Given the description of an element on the screen output the (x, y) to click on. 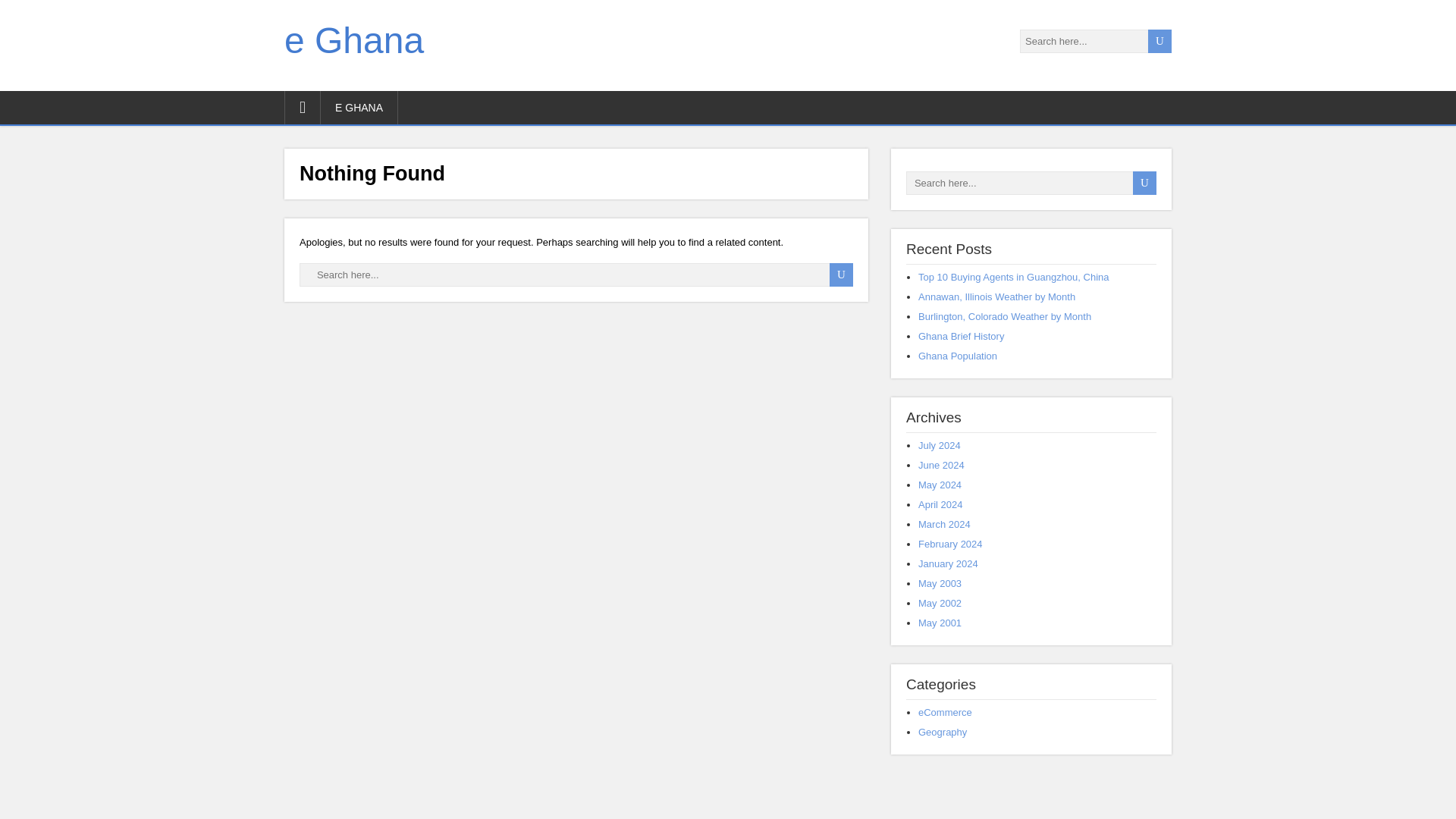
Geography (942, 731)
Ghana Population (957, 355)
May 2001 (939, 622)
U (1144, 182)
U (1144, 182)
Annawan, Illinois Weather by Month (996, 296)
July 2024 (939, 445)
U (1160, 41)
U (1160, 41)
eCommerce (945, 712)
Ghana Brief History (961, 336)
U (1160, 41)
April 2024 (940, 504)
U (841, 274)
U (1144, 182)
